Given the description of an element on the screen output the (x, y) to click on. 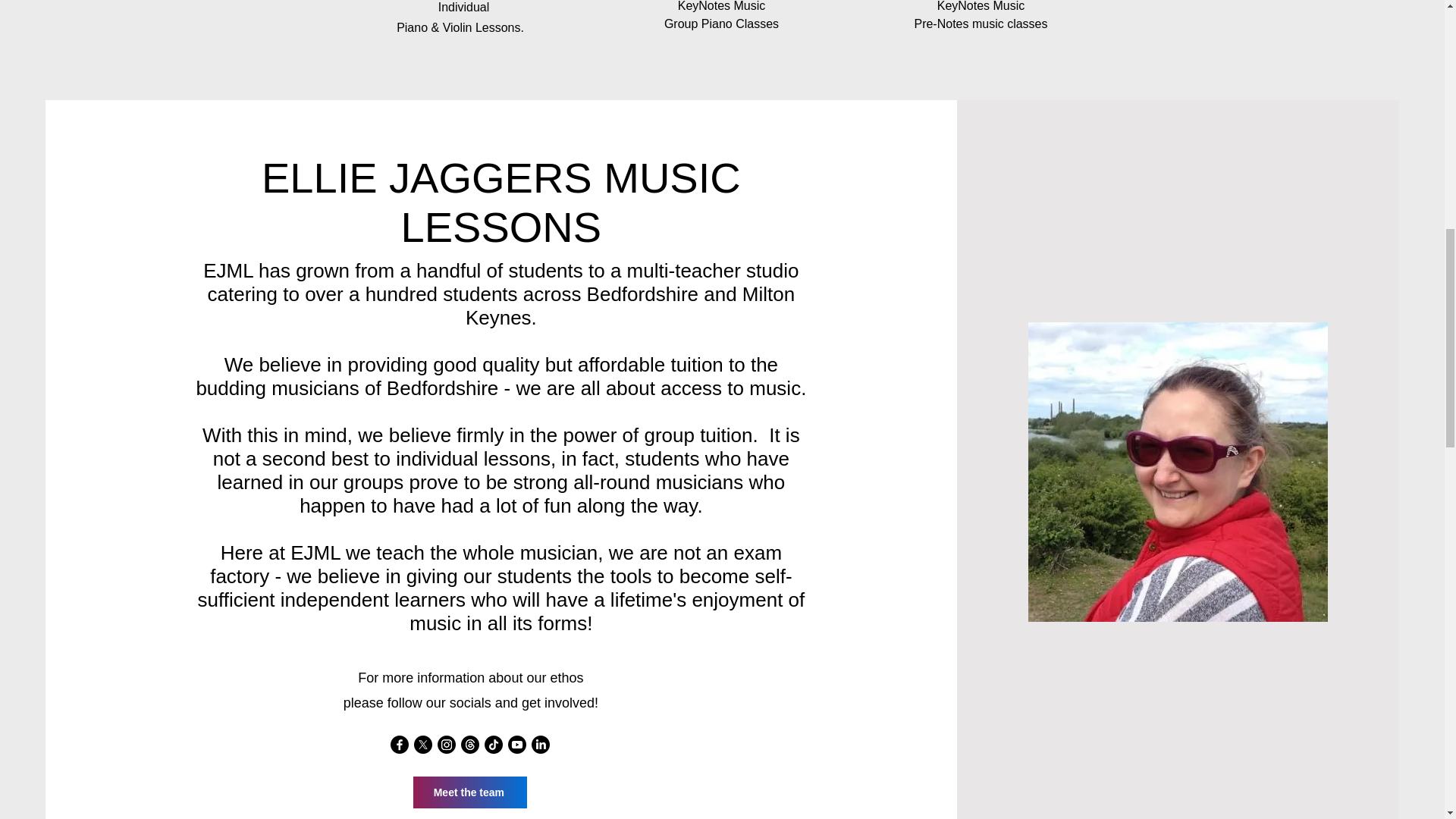
Meet the team (470, 792)
